Given the description of an element on the screen output the (x, y) to click on. 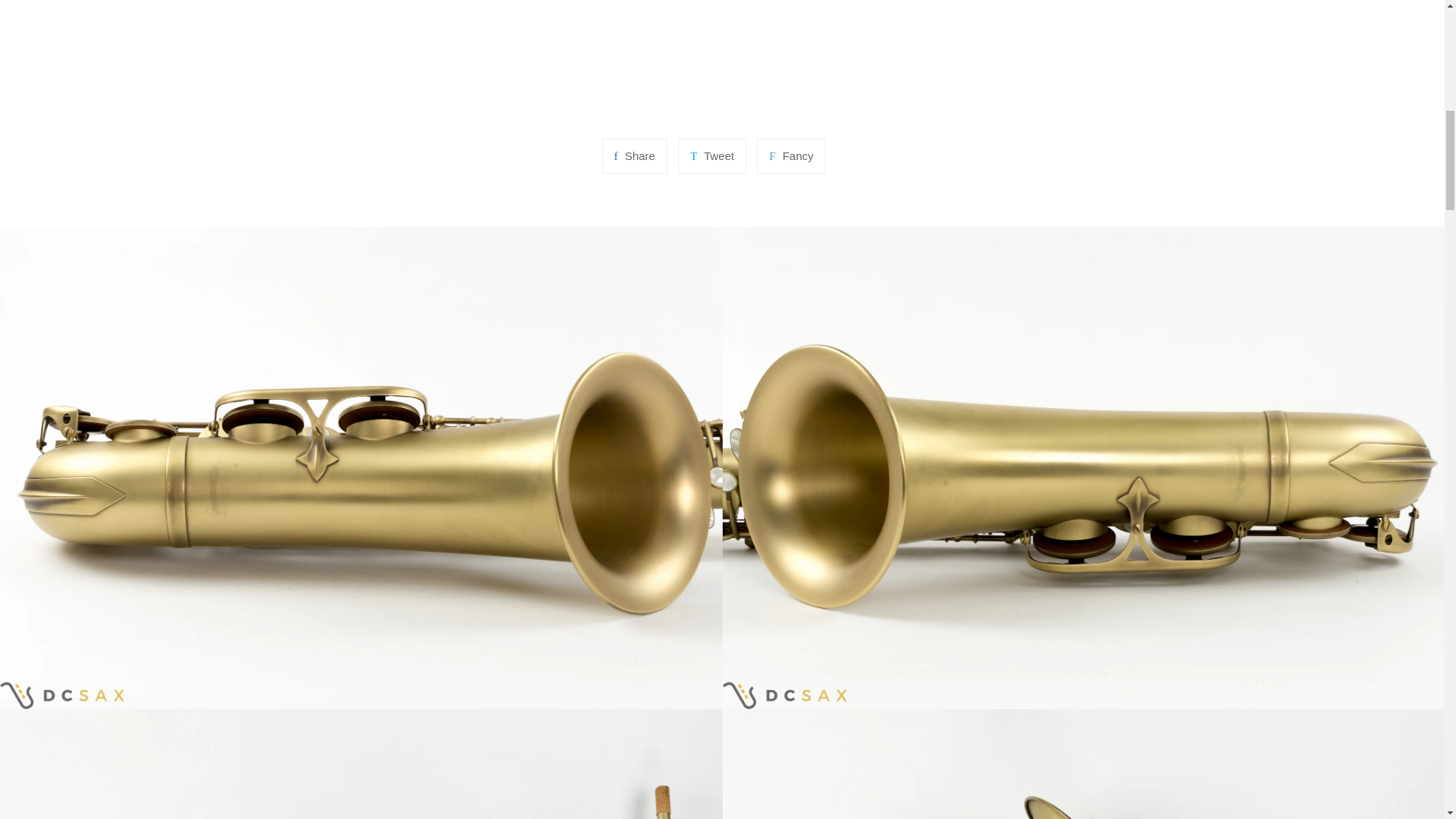
Tweet (711, 155)
Fancy (791, 155)
Share (634, 155)
